Given the description of an element on the screen output the (x, y) to click on. 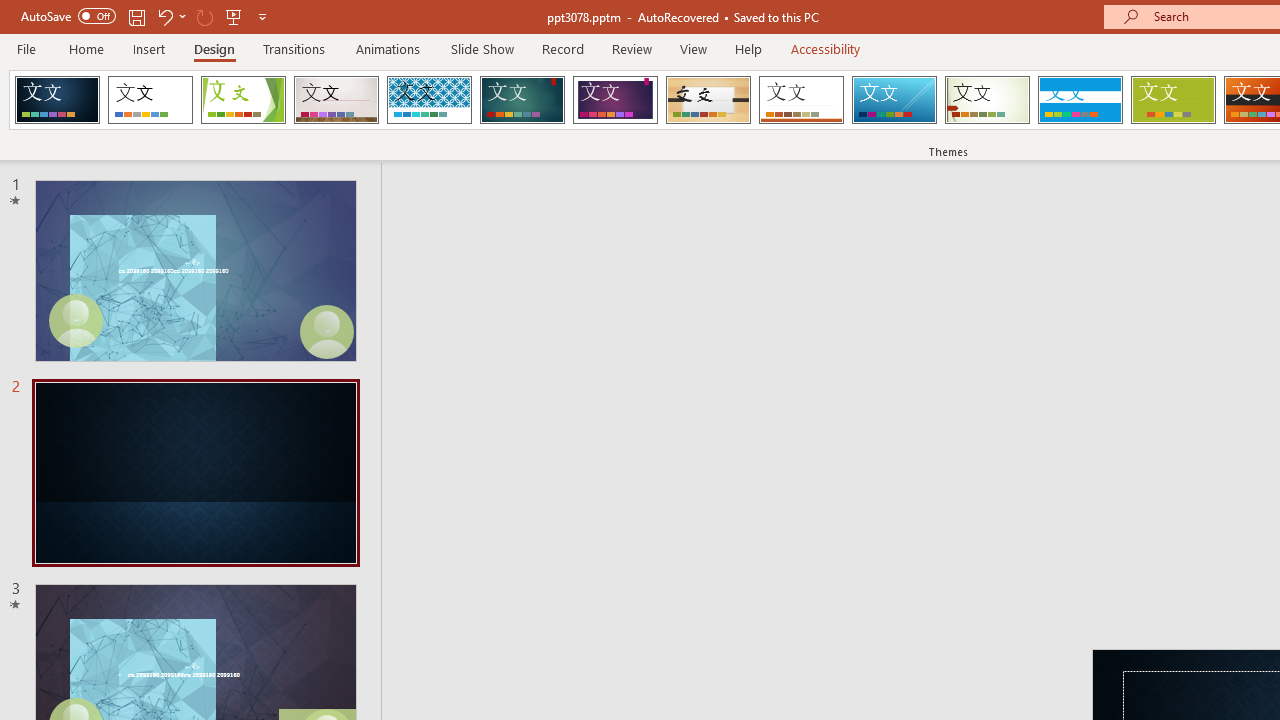
Slice (893, 100)
Dividend (57, 100)
Banded (1080, 100)
Basis (1172, 100)
Ion (522, 100)
